Given the description of an element on the screen output the (x, y) to click on. 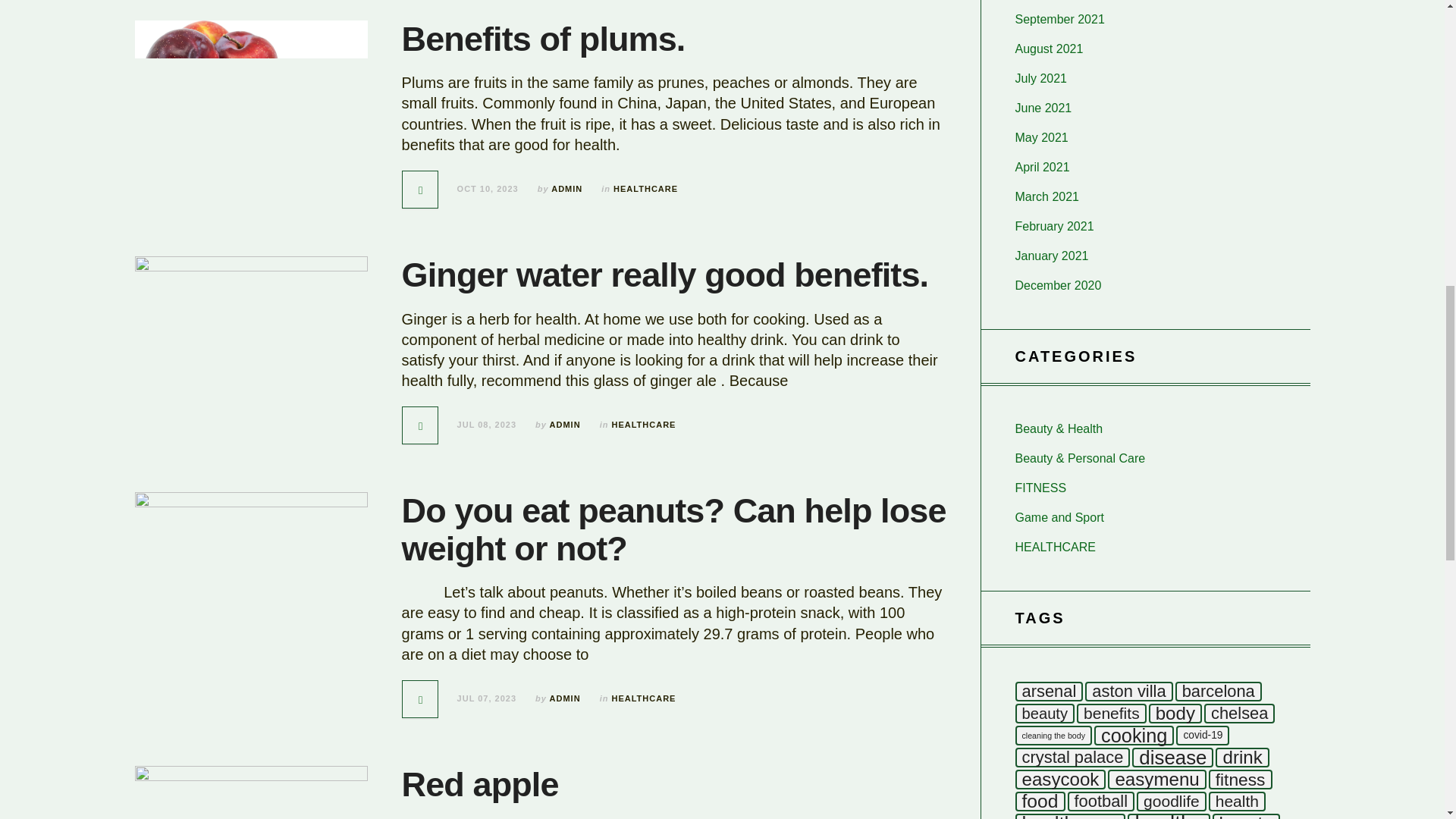
HEALTHCARE (643, 424)
Benefits of plums. (543, 38)
Posts by admin (566, 188)
Read More... (421, 189)
View all posts in HEALTHCARE (645, 188)
View all posts in HEALTHCARE (643, 424)
Posts by admin (565, 697)
Ginger water really good benefits. (664, 274)
HEALTHCARE (643, 697)
Read More... (421, 698)
